Given the description of an element on the screen output the (x, y) to click on. 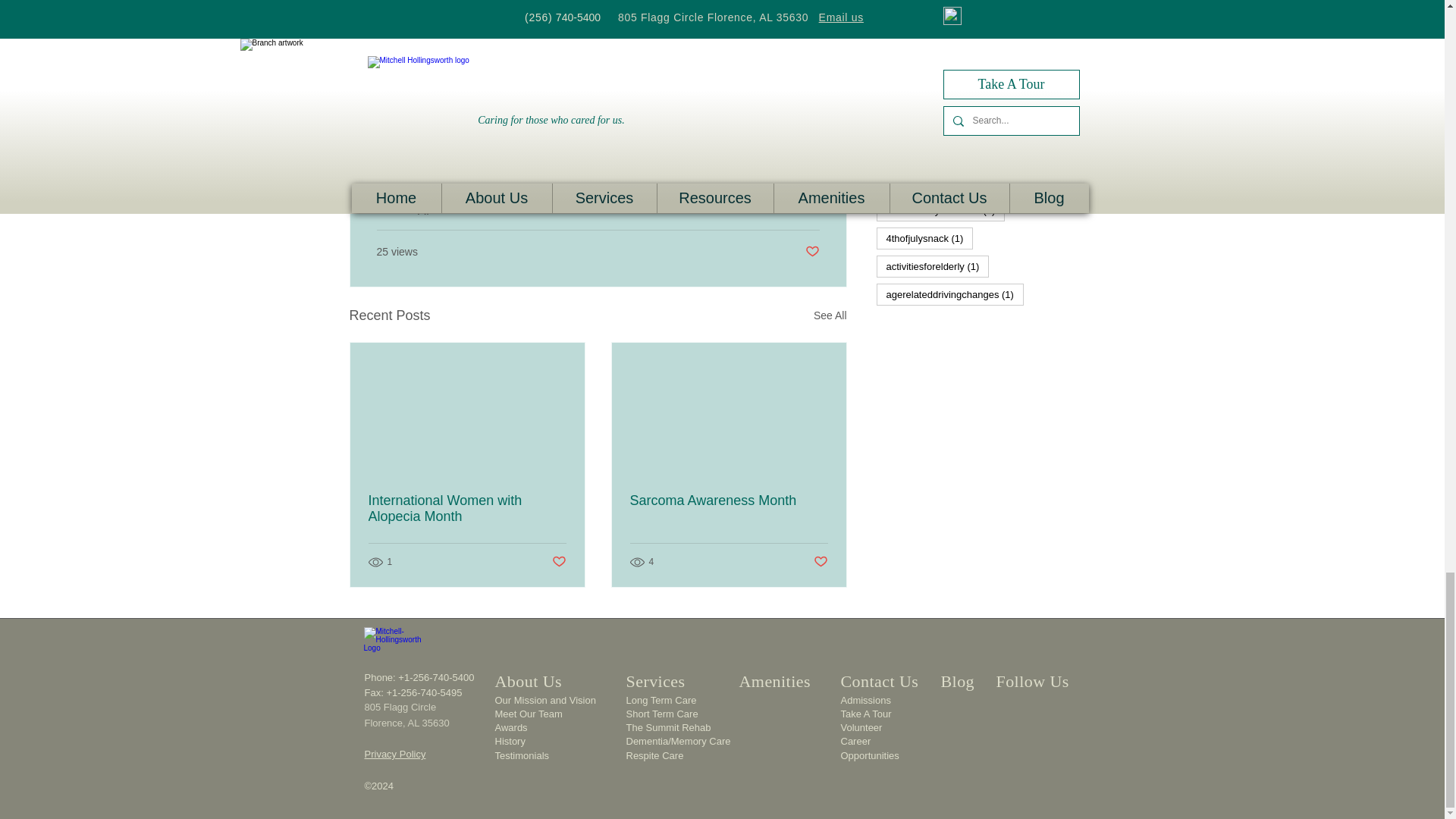
International Women with Alopecia Month (467, 508)
See All (830, 315)
managingpainwithaging (440, 149)
Mitchell-Hollingsworth Logo (394, 646)
Post not marked as liked (812, 252)
